Given the description of an element on the screen output the (x, y) to click on. 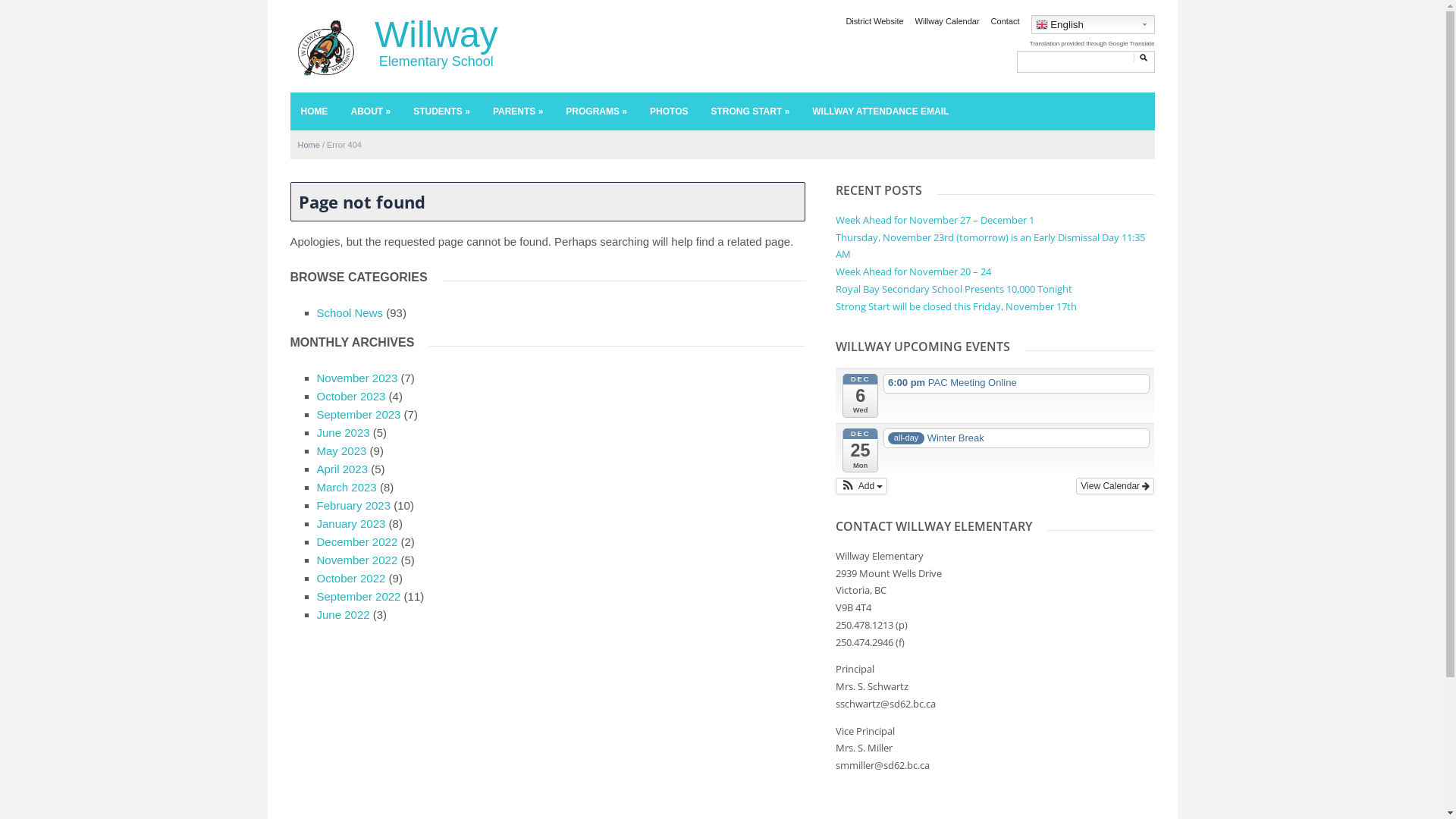
Strong Start will be closed this Friday, November 17th Element type: text (955, 306)
DEC
6
Wed Element type: text (860, 395)
June 2023 Element type: text (343, 432)
February 2023 Element type: text (353, 504)
Home Element type: text (308, 144)
School News Element type: text (349, 312)
View Calendar Element type: text (1115, 485)
Elementary School Element type: hover (325, 45)
December 2022 Element type: text (357, 541)
Willway Calendar Element type: text (947, 20)
English Element type: text (1092, 24)
Royal Bay Secondary School Presents 10,000 Tonight Element type: text (953, 288)
November 2023 Element type: text (357, 377)
October 2022 Element type: text (350, 577)
PHOTOS Element type: text (669, 111)
January 2023 Element type: text (350, 523)
September 2022 Element type: text (358, 595)
Willway
Elementary School Element type: text (436, 42)
June 2022 Element type: text (343, 614)
all-day Winter Break Element type: text (1016, 438)
May 2023 Element type: text (341, 450)
October 2023 Element type: text (350, 395)
WILLWAY ATTENDANCE EMAIL Element type: text (880, 111)
Contact Element type: text (1005, 20)
September 2023 Element type: text (358, 413)
November 2022 Element type: text (357, 559)
District Website Element type: text (874, 20)
HOME Element type: text (313, 111)
March 2023 Element type: text (346, 486)
6:00 pm PAC Meeting Online Element type: text (1016, 383)
DEC
25
Mon Element type: text (860, 450)
April 2023 Element type: text (342, 468)
